Given the description of an element on the screen output the (x, y) to click on. 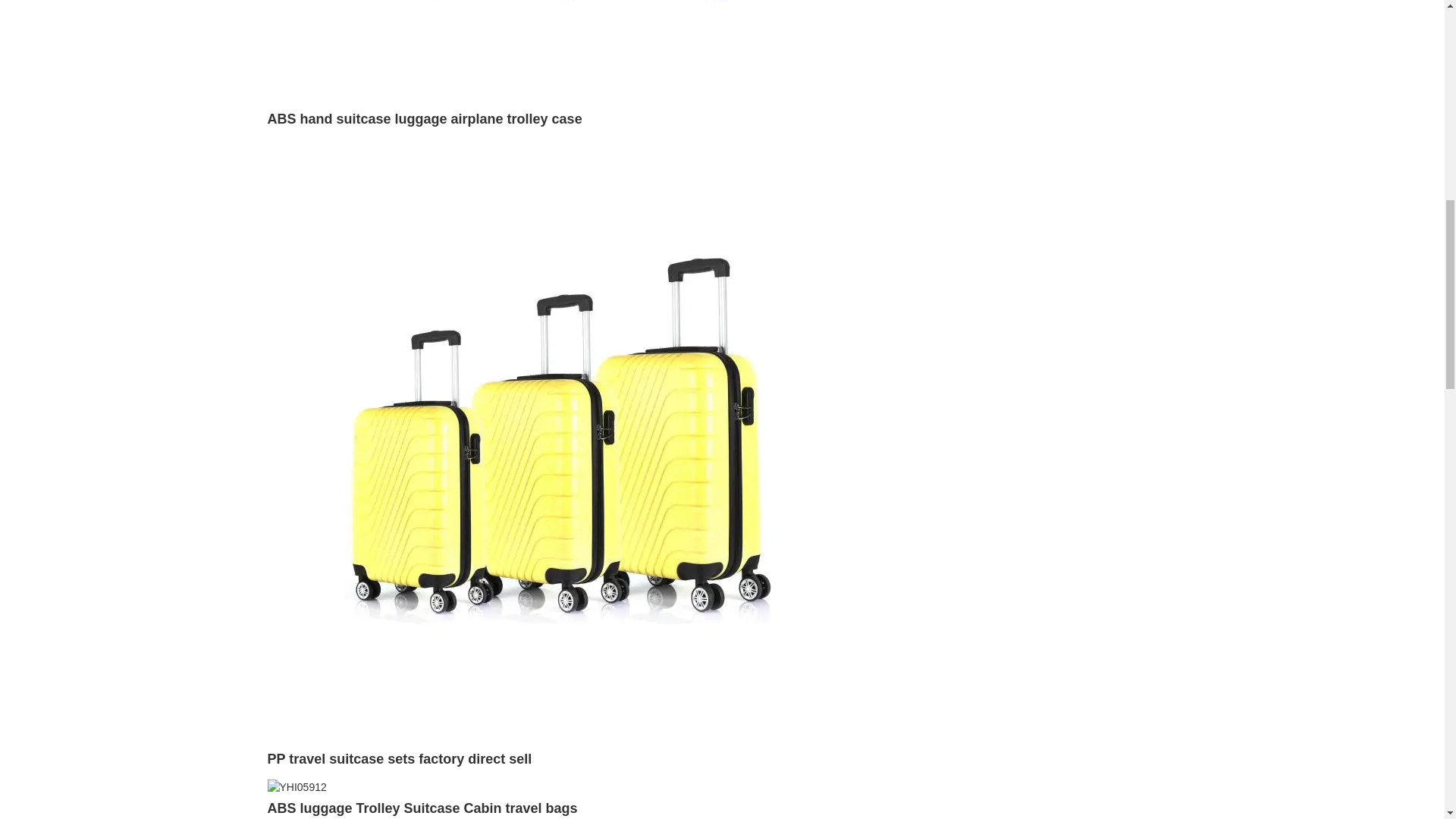
ABS luggage Trolley Suitcase Cabin travel bags (421, 807)
PP travel suitcase sets factory direct sell (398, 758)
ABS luggage Trolley Suitcase Cabin travel bags (296, 787)
ABS hand suitcase luggage airplane trolley case  (425, 118)
PP travel suitcase sets factory direct sell (569, 440)
PP travel suitcase sets factory direct sell (398, 758)
ABS luggage Trolley Suitcase Cabin travel bags (421, 807)
